Given the description of an element on the screen output the (x, y) to click on. 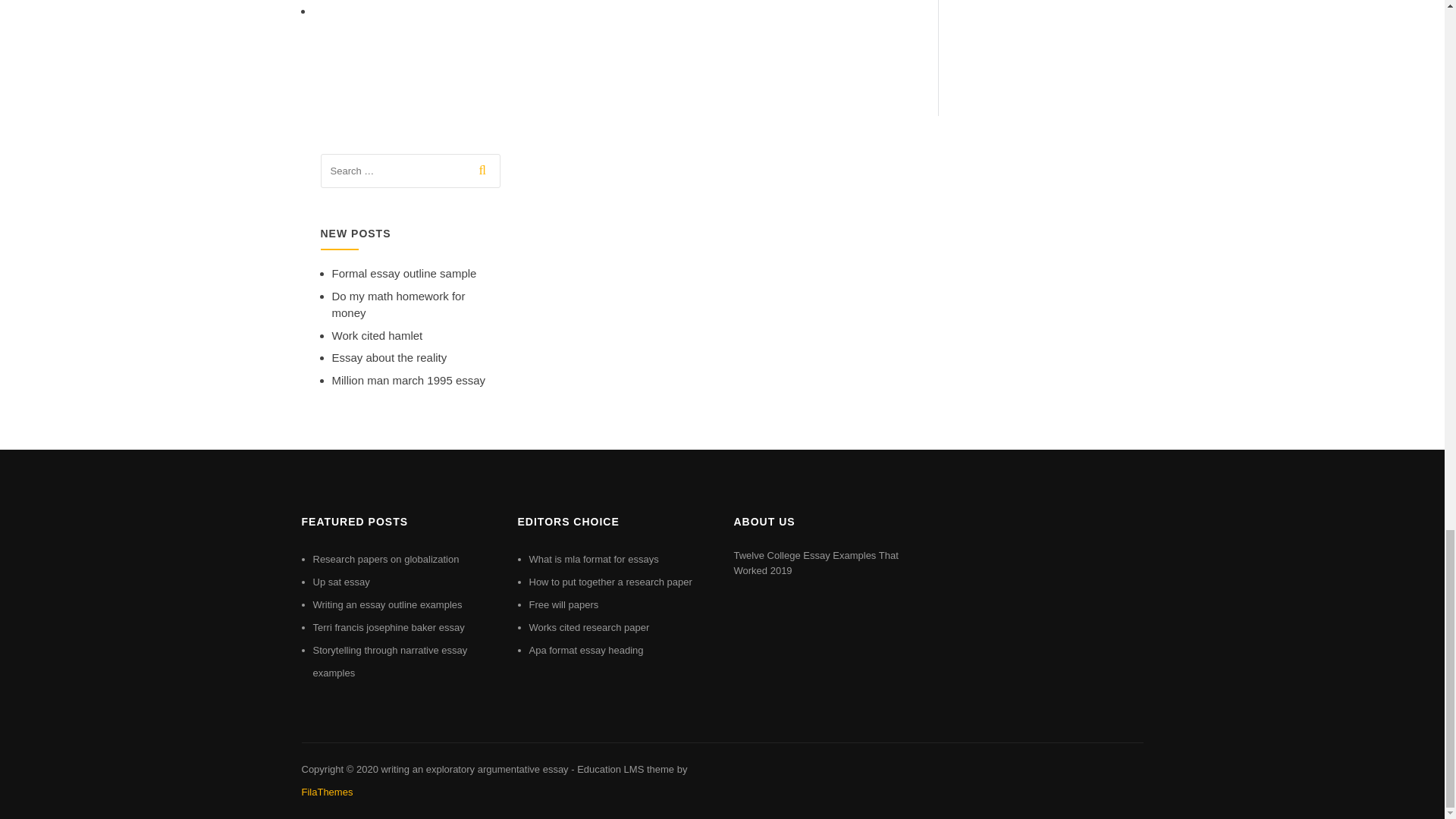
Free will papers (563, 604)
Do my math homework for money (398, 304)
Million man march 1995 essay (408, 379)
Essay about the reality (388, 357)
Research papers on globalization (385, 559)
Formal essay outline sample (404, 273)
What is mla format for essays (594, 559)
Works cited research paper (589, 627)
Work cited hamlet (377, 335)
writing an exploratory argumentative essay (473, 768)
